Given the description of an element on the screen output the (x, y) to click on. 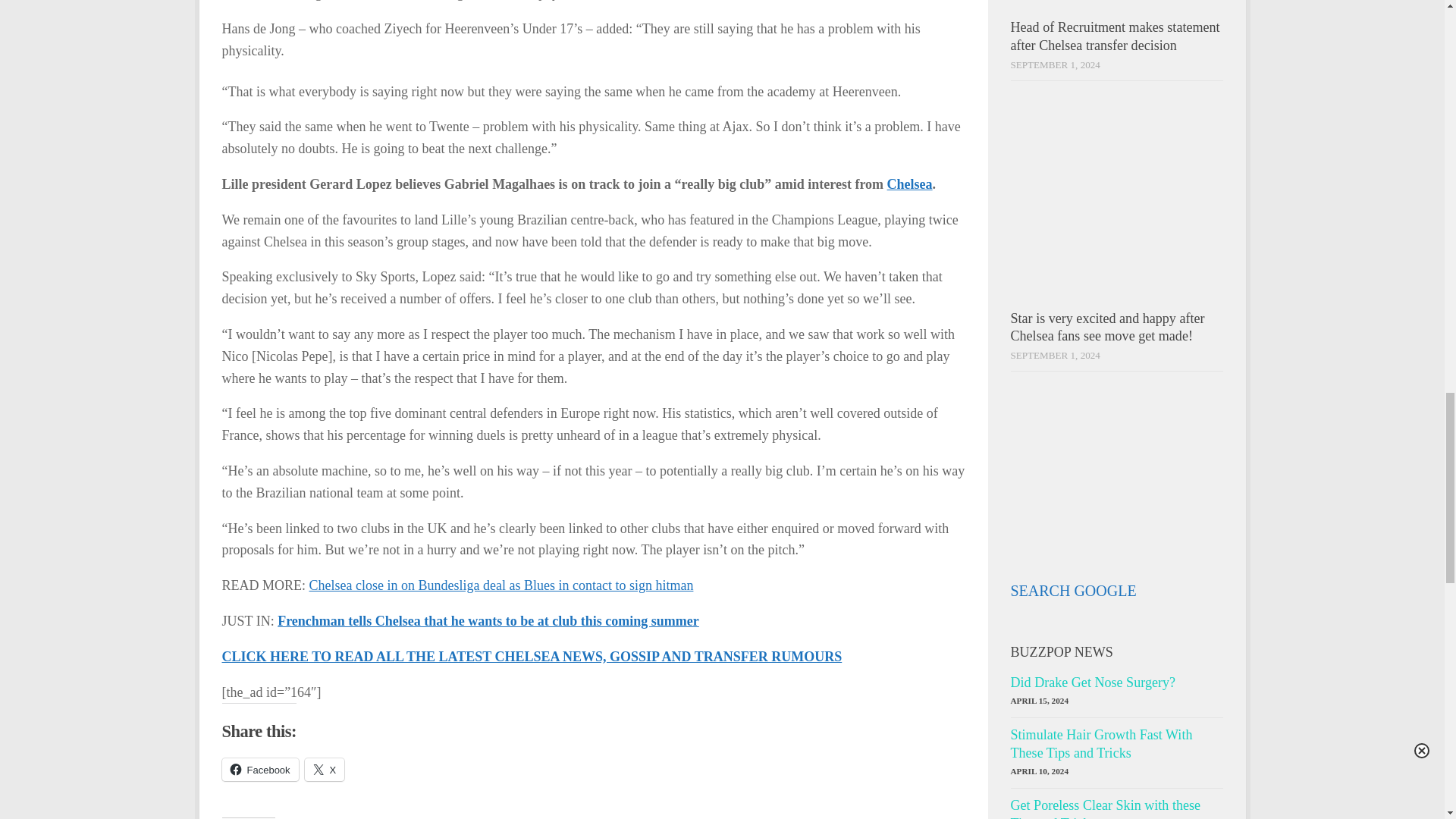
X (324, 769)
Chelsea (909, 183)
Click to share on Facebook (259, 769)
Facebook (259, 769)
Click to share on X (324, 769)
